Given the description of an element on the screen output the (x, y) to click on. 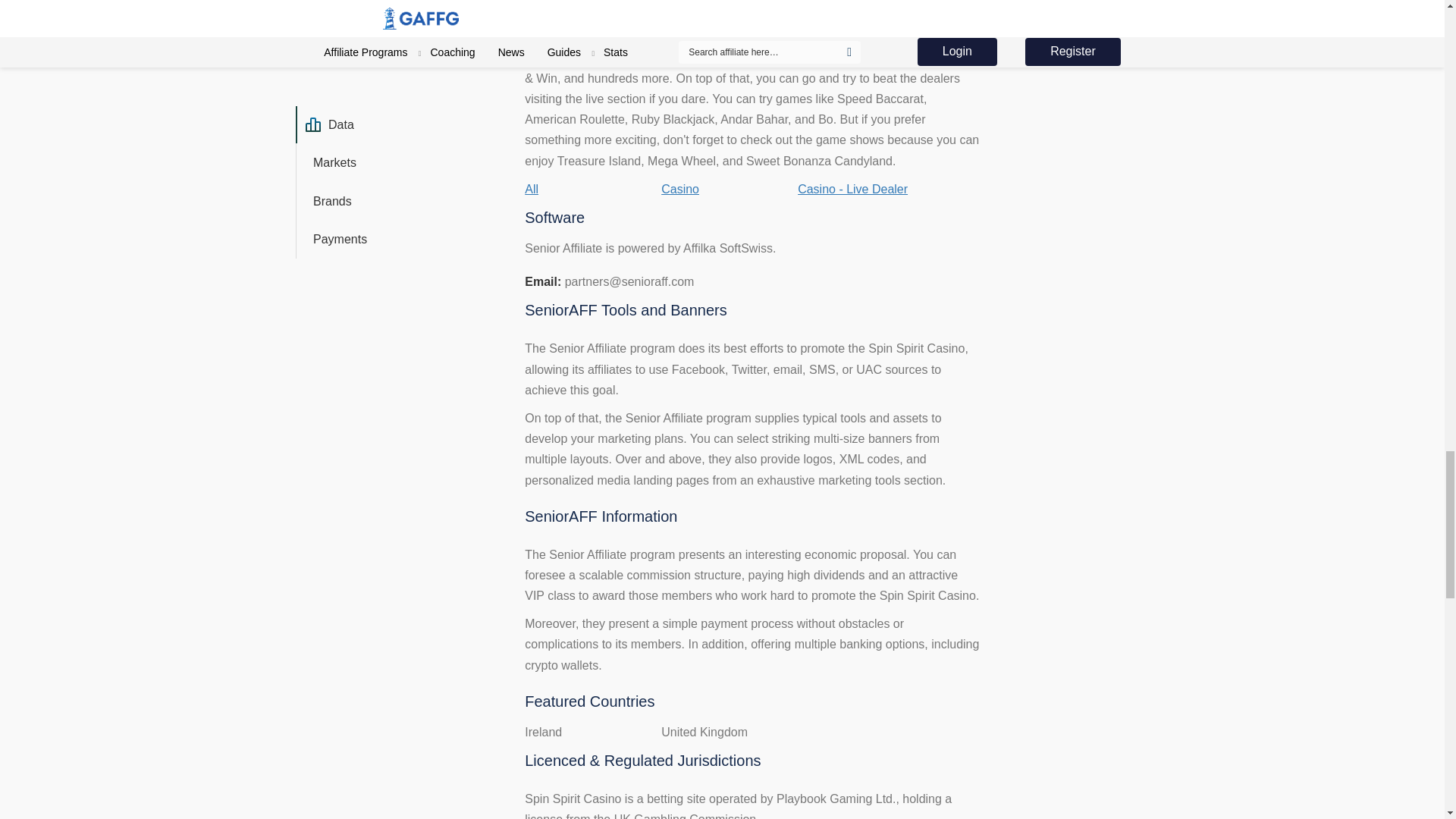
All (531, 188)
Casino - Live Dealer (852, 188)
Casino (679, 188)
